Given the description of an element on the screen output the (x, y) to click on. 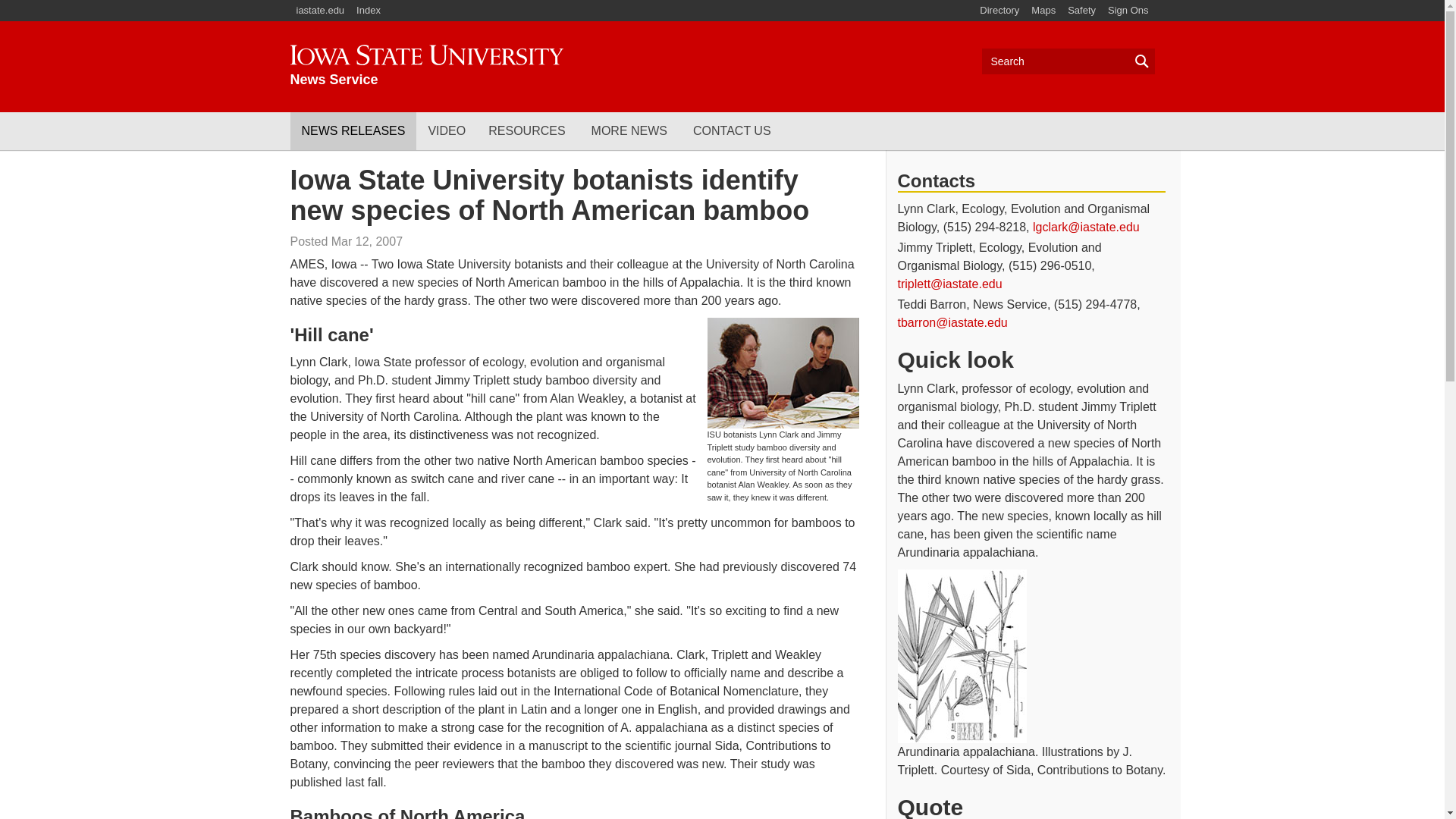
VIDEO (446, 130)
Home (425, 66)
Search (1067, 61)
NEWS RELEASES (352, 130)
Safety (425, 66)
Sign Ons (1081, 10)
Directory (1128, 10)
Index (999, 10)
iastate.edu (370, 10)
